Given the description of an element on the screen output the (x, y) to click on. 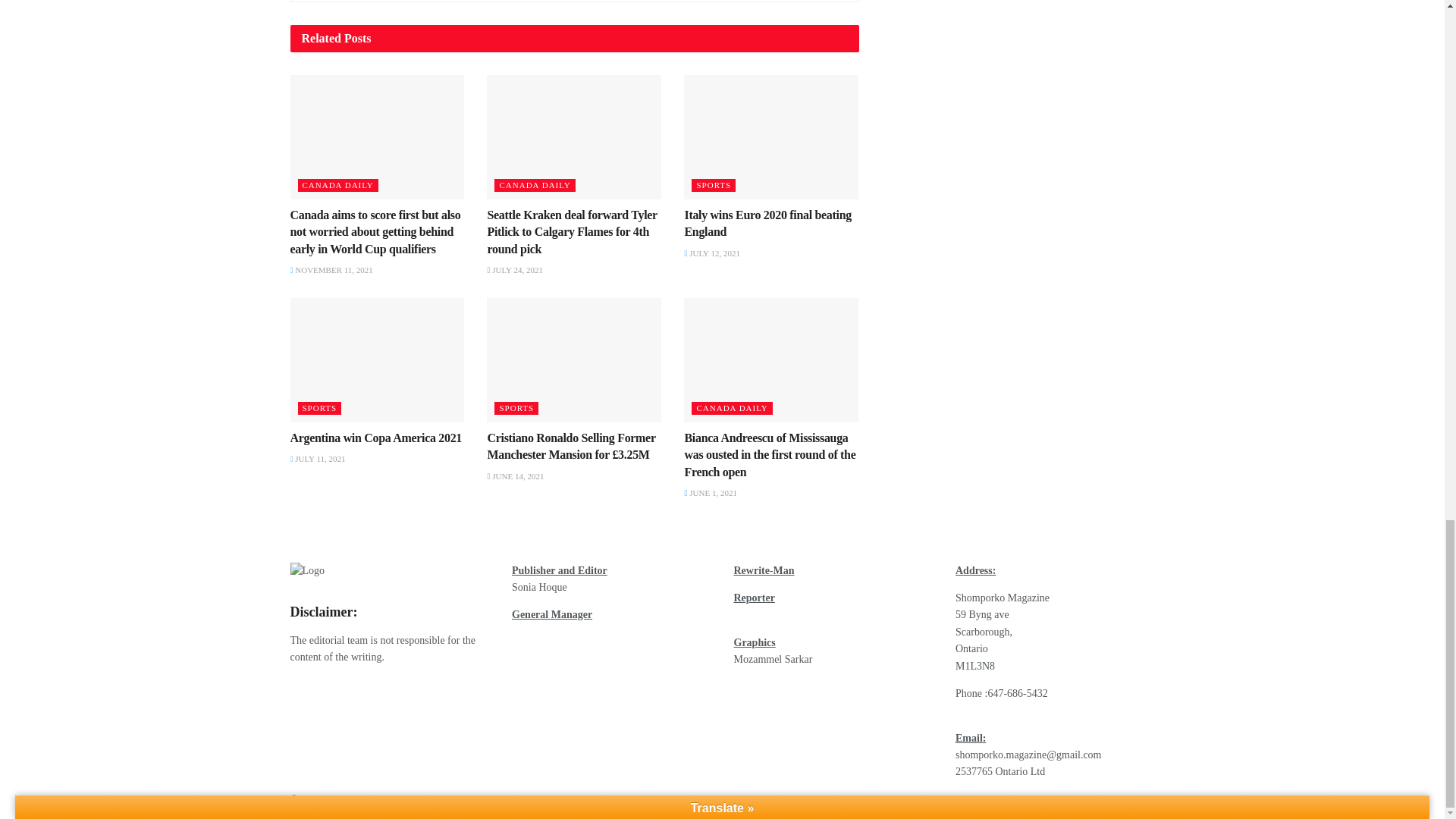
IT. Software and website development company (503, 799)
Logo (306, 570)
 magazine  (349, 799)
